Given the description of an element on the screen output the (x, y) to click on. 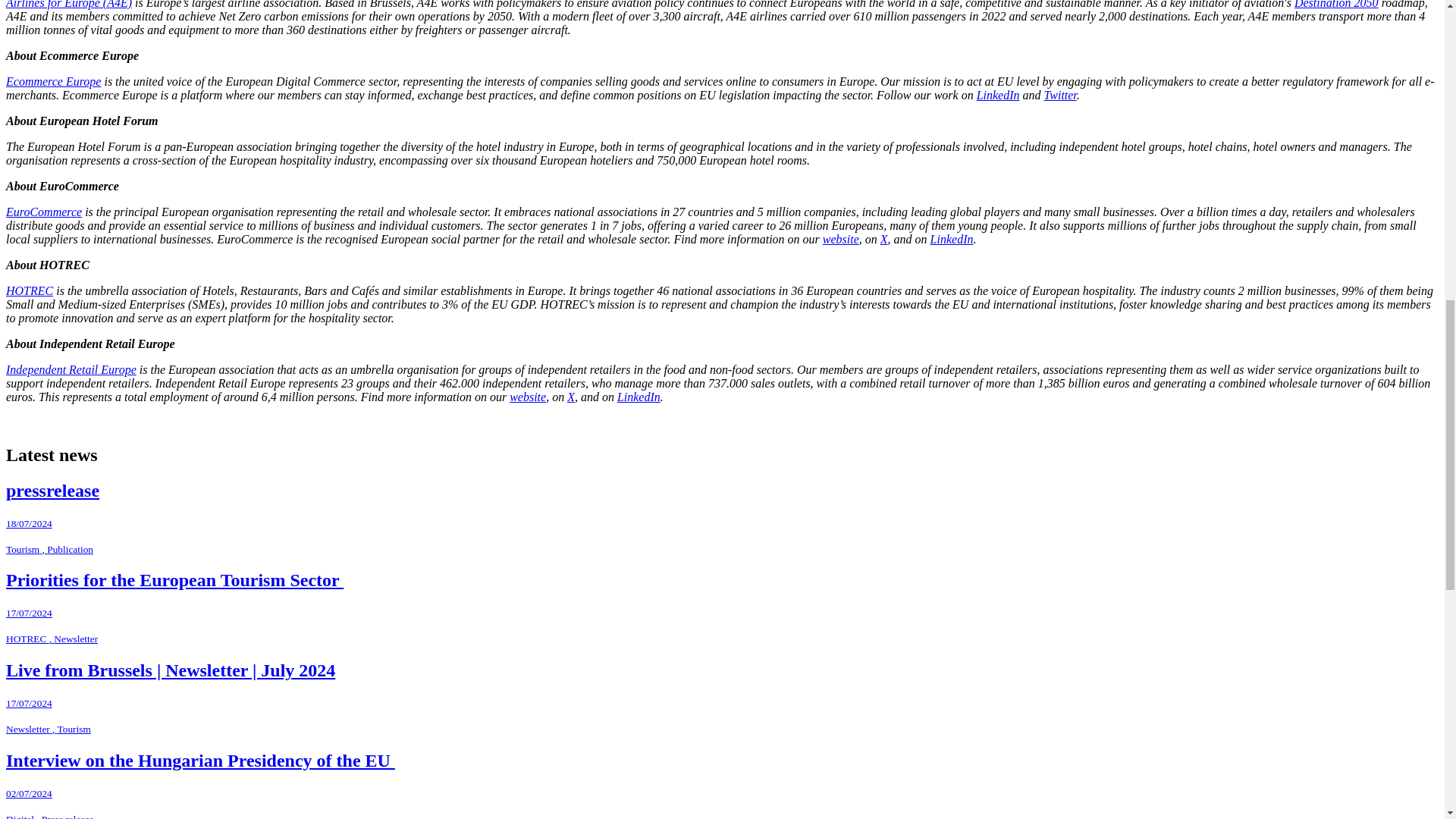
EuroCommerce (43, 211)
website (840, 238)
LinkedIn (952, 238)
LinkedIn (998, 94)
Ecommerce Europe (52, 81)
Twitter (1060, 94)
Destination 2050 (1336, 4)
